Given the description of an element on the screen output the (x, y) to click on. 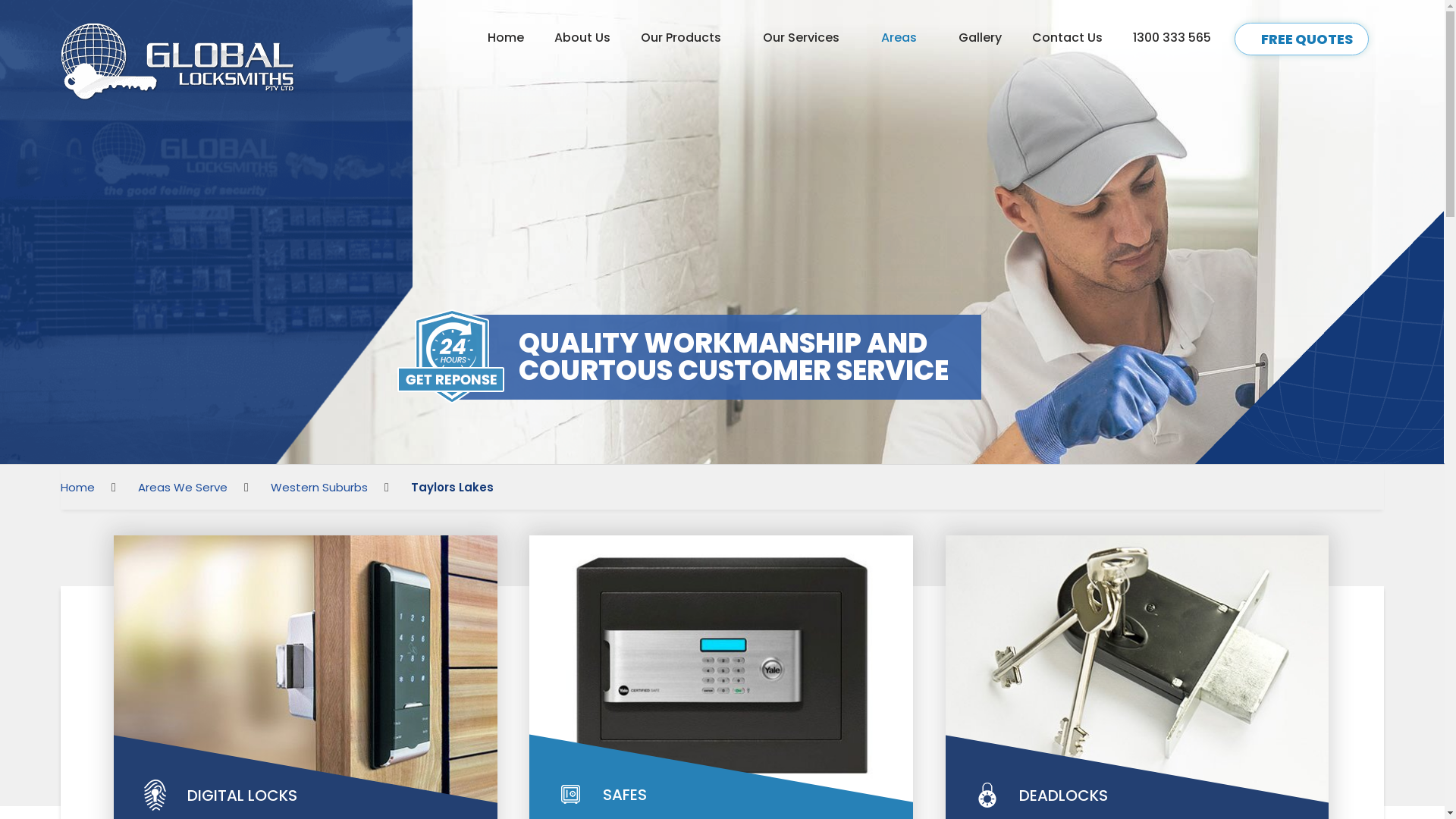
FREE QUOTES Element type: text (1301, 38)
Our Services Element type: text (806, 37)
Contact Us Element type: text (1066, 37)
Home Element type: text (77, 486)
Home Element type: text (505, 37)
Our Products Element type: text (686, 37)
home-slidebg-1 Element type: hover (722, 232)
Western Suburbs Element type: text (318, 486)
Areas We Serve Element type: text (182, 486)
About Us Element type: text (582, 37)
1300 333 565 Element type: text (1171, 37)
Areas Element type: text (904, 37)
Gallery Element type: text (979, 37)
